Given the description of an element on the screen output the (x, y) to click on. 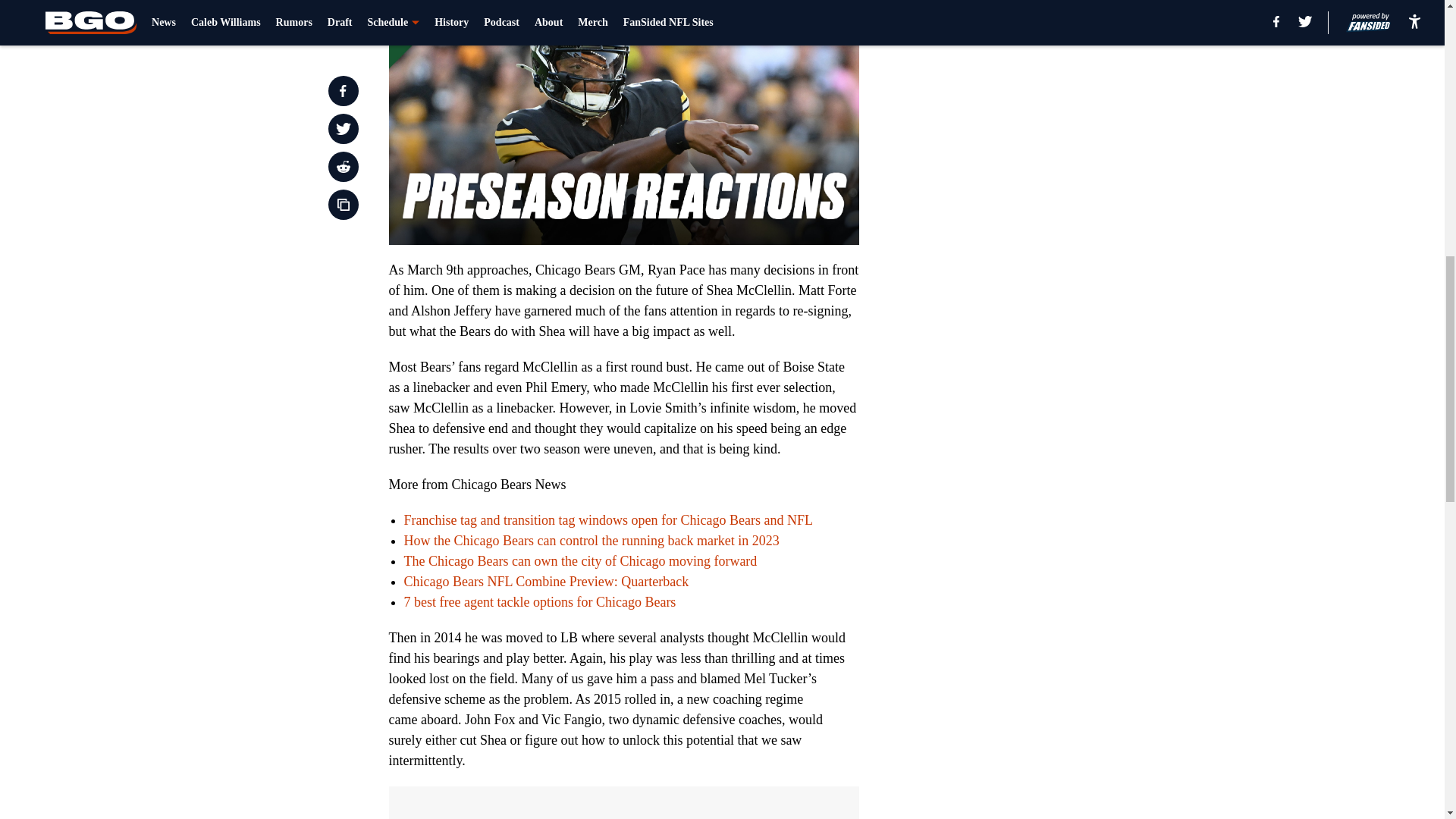
The Chicago Bears can own the city of Chicago moving forward (580, 560)
Chicago Bears NFL Combine Preview: Quarterback (545, 581)
7 best free agent tackle options for Chicago Bears (539, 601)
